Given the description of an element on the screen output the (x, y) to click on. 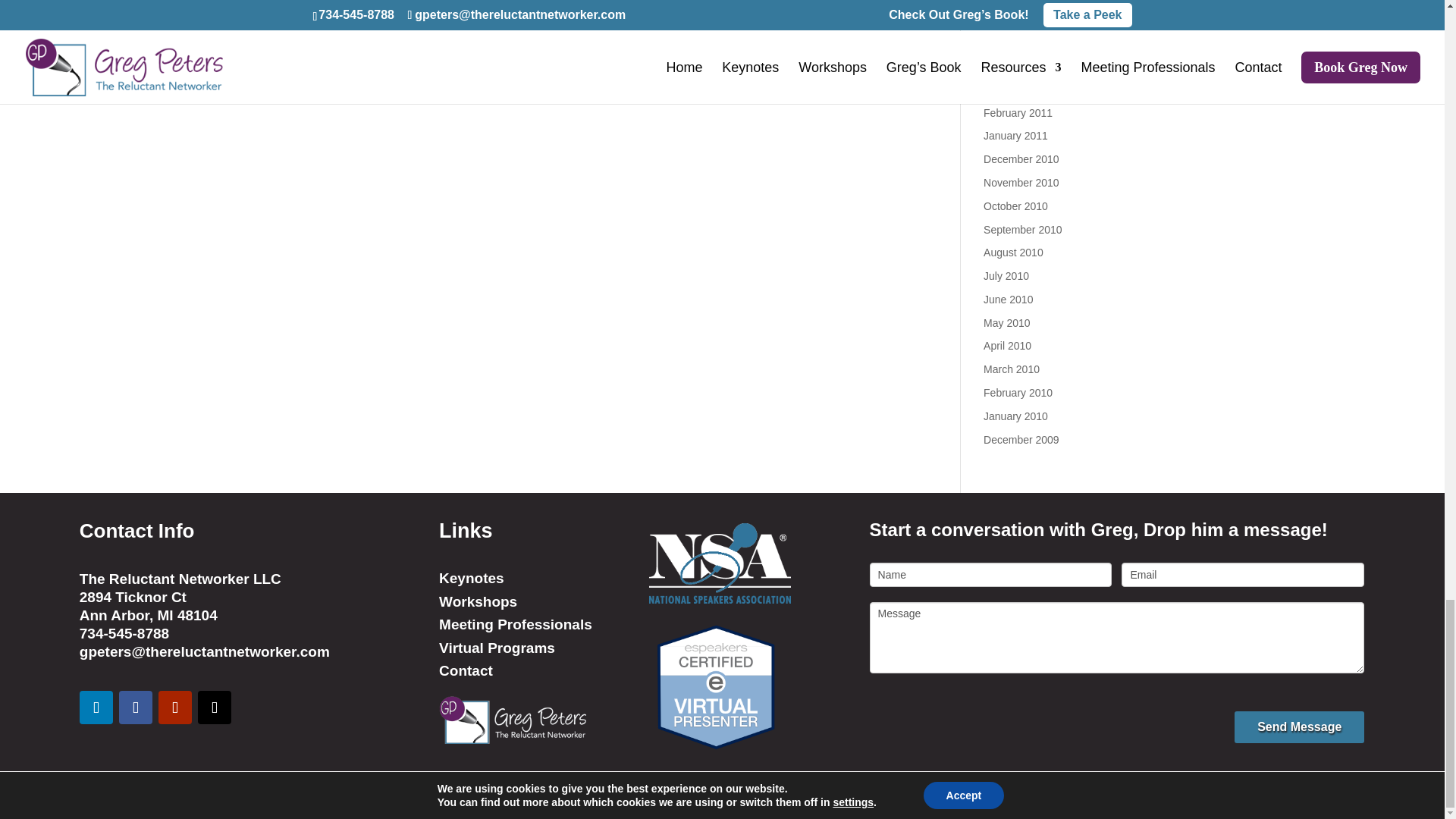
Follow on LinkedIn (96, 707)
NSALogoBlue (719, 563)
Follow on Facebook (135, 707)
Email (1242, 574)
Follow on X (214, 707)
virtual (715, 686)
Footer Logo 2b (512, 719)
Name (990, 574)
Follow on Youtube (175, 707)
